Given the description of an element on the screen output the (x, y) to click on. 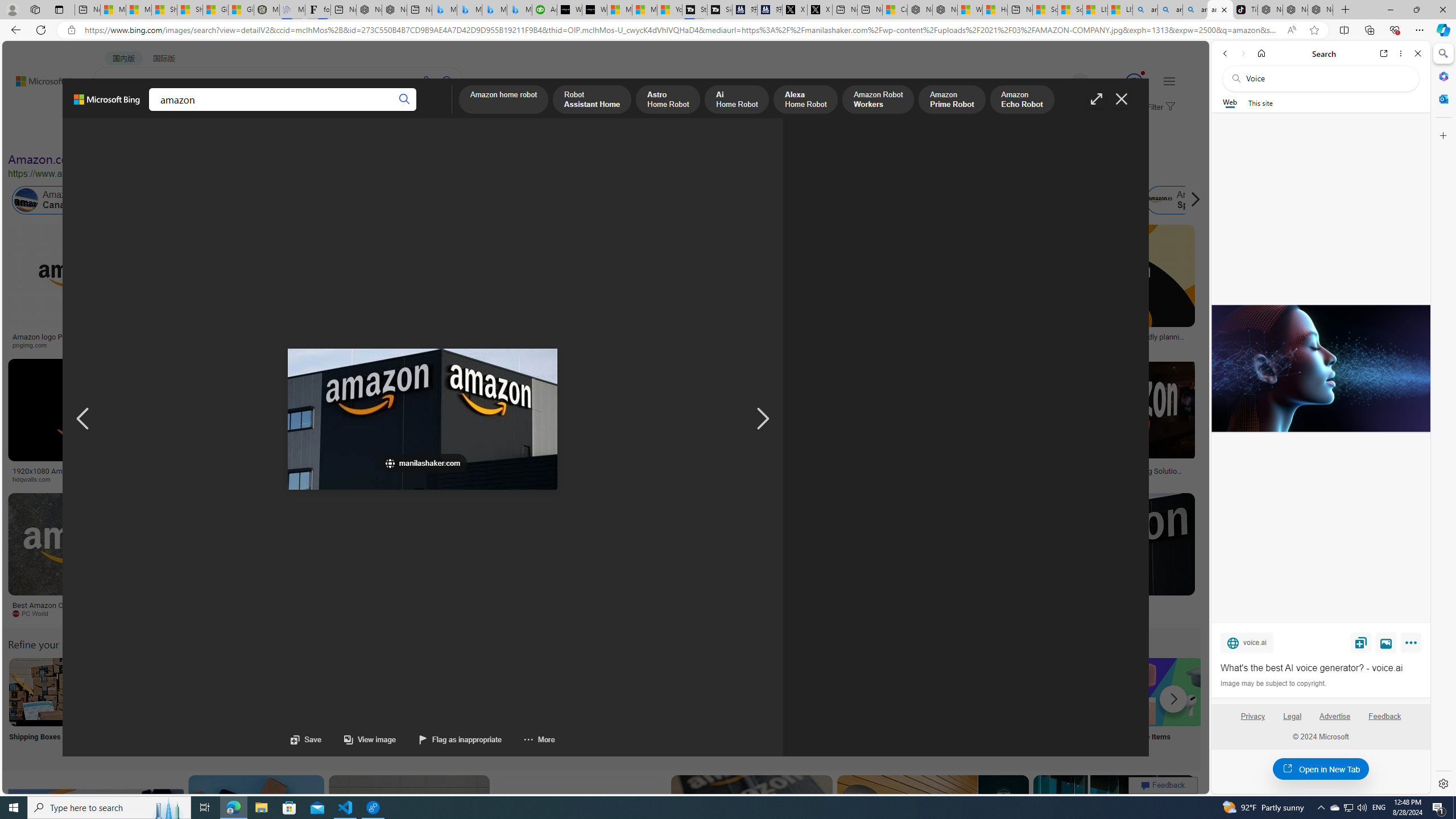
Marketplace (459, 479)
Robot Assistant Home (592, 100)
Kindle Paperwhite Case (673, 298)
License (378, 135)
Microsoft Bing Travel - Shangri-La Hotel Bangkok (519, 9)
